Given the description of an element on the screen output the (x, y) to click on. 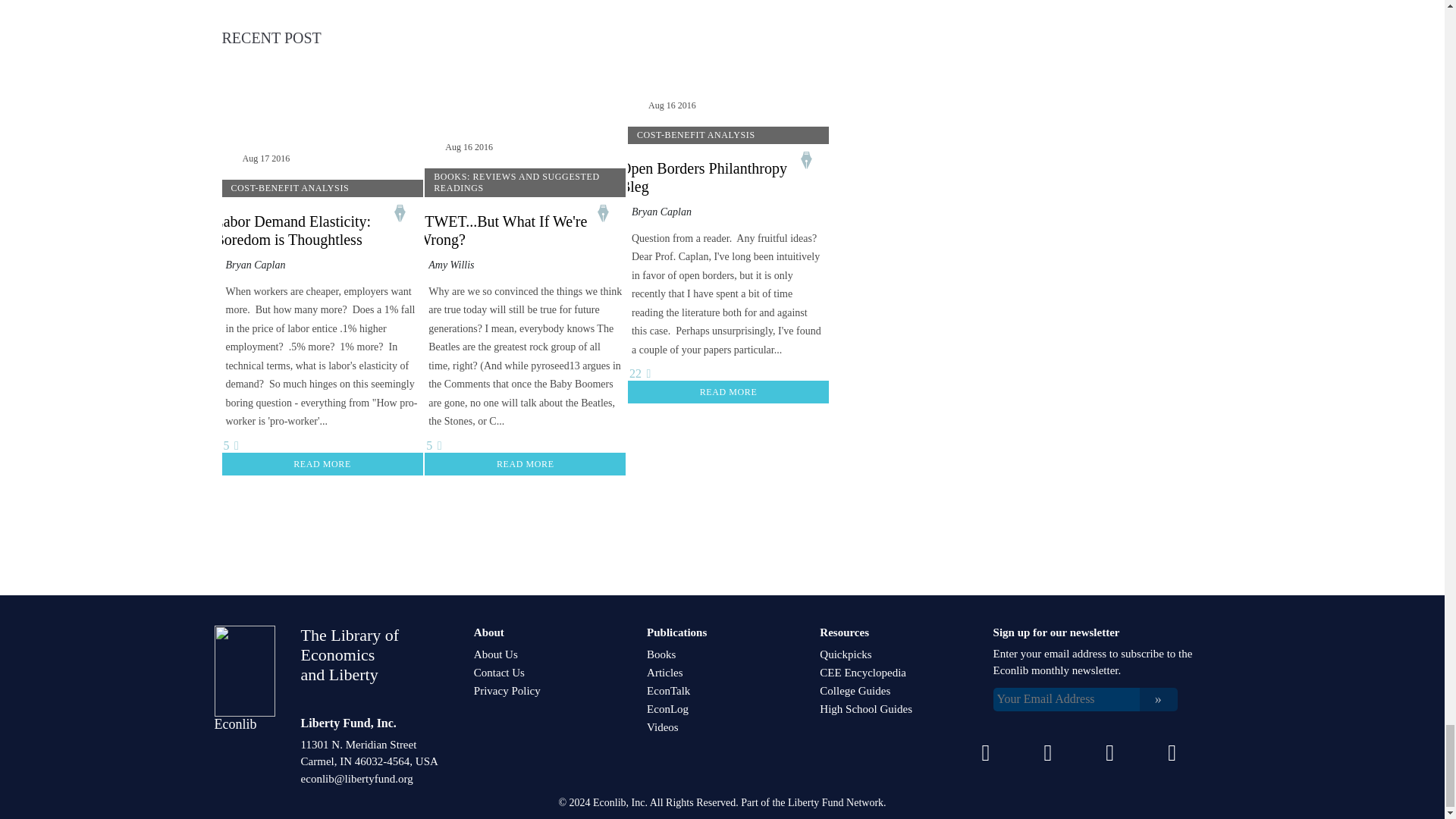
Amy Willis (451, 265)
Bryan Caplan (661, 211)
Bryan Caplan (255, 265)
